Given the description of an element on the screen output the (x, y) to click on. 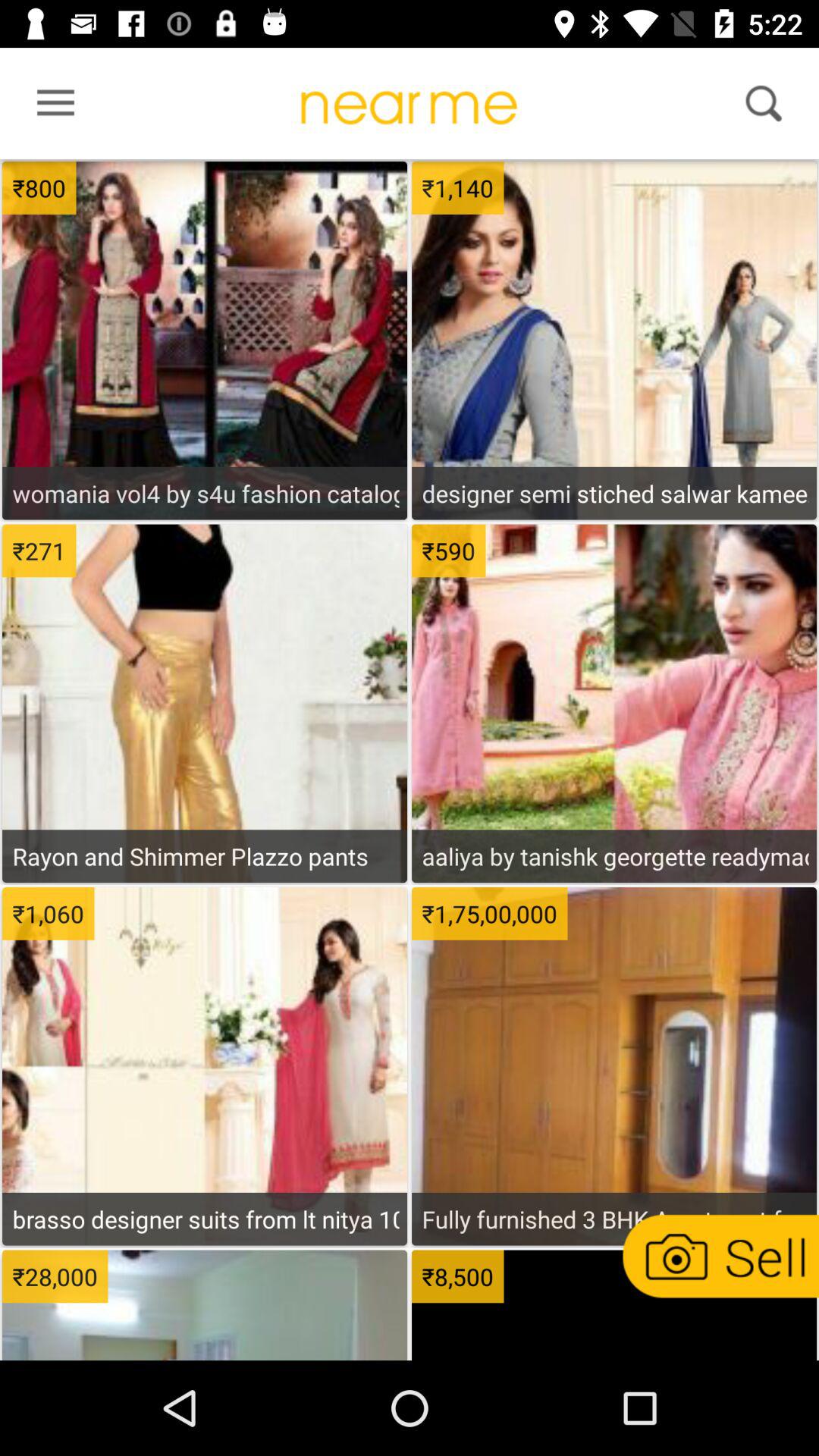
choose the icon below 1 75 00 icon (613, 1218)
